Given the description of an element on the screen output the (x, y) to click on. 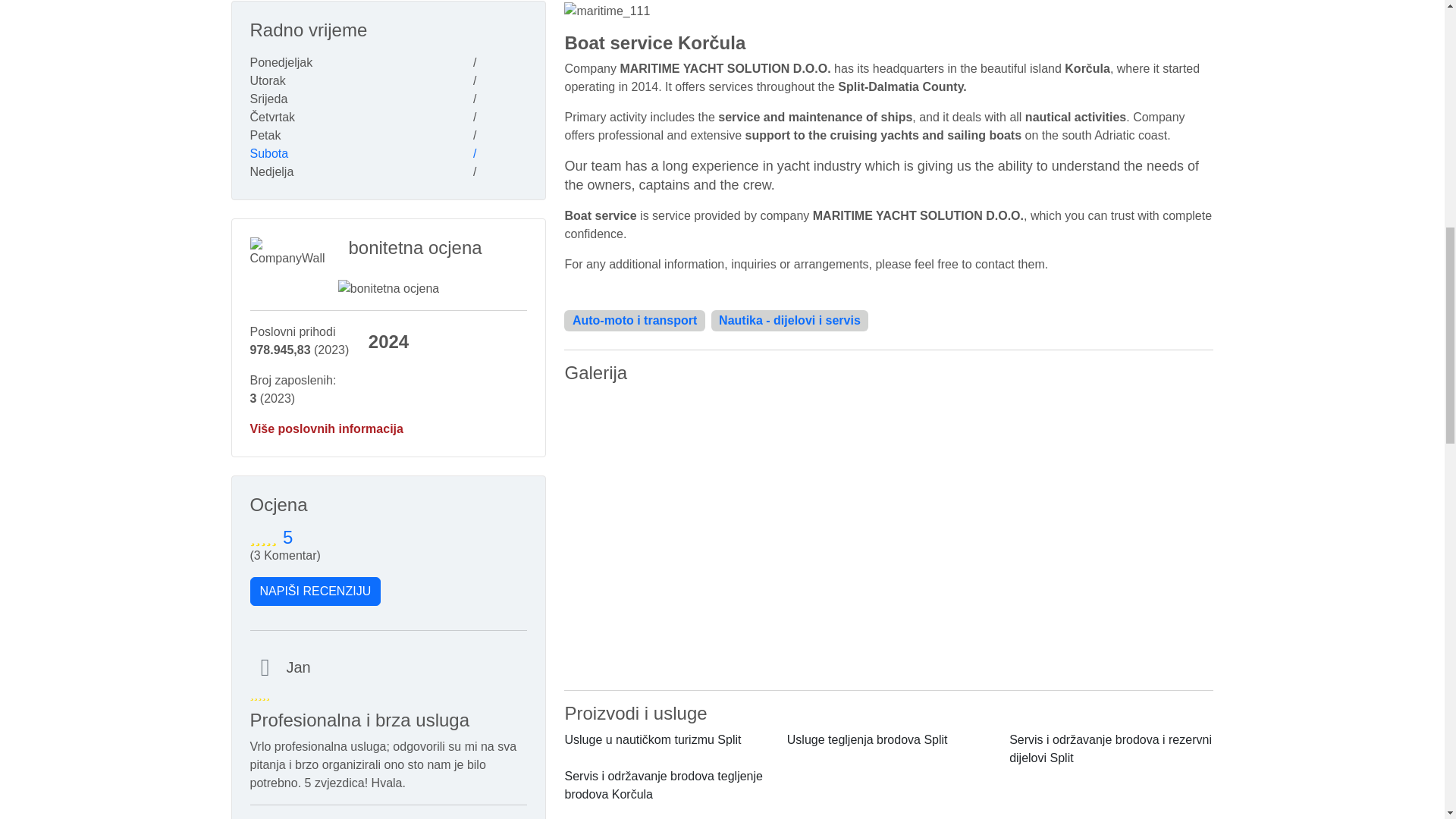
Usluge tegljenja brodova Split (867, 739)
maritime 333.jpg (888, 605)
Auto-moto i transport (634, 320)
maritime 222.jpg (888, 461)
Nautika - dijelovi i servis (790, 320)
Usluge tegljenja brodova Split (867, 739)
